Given the description of an element on the screen output the (x, y) to click on. 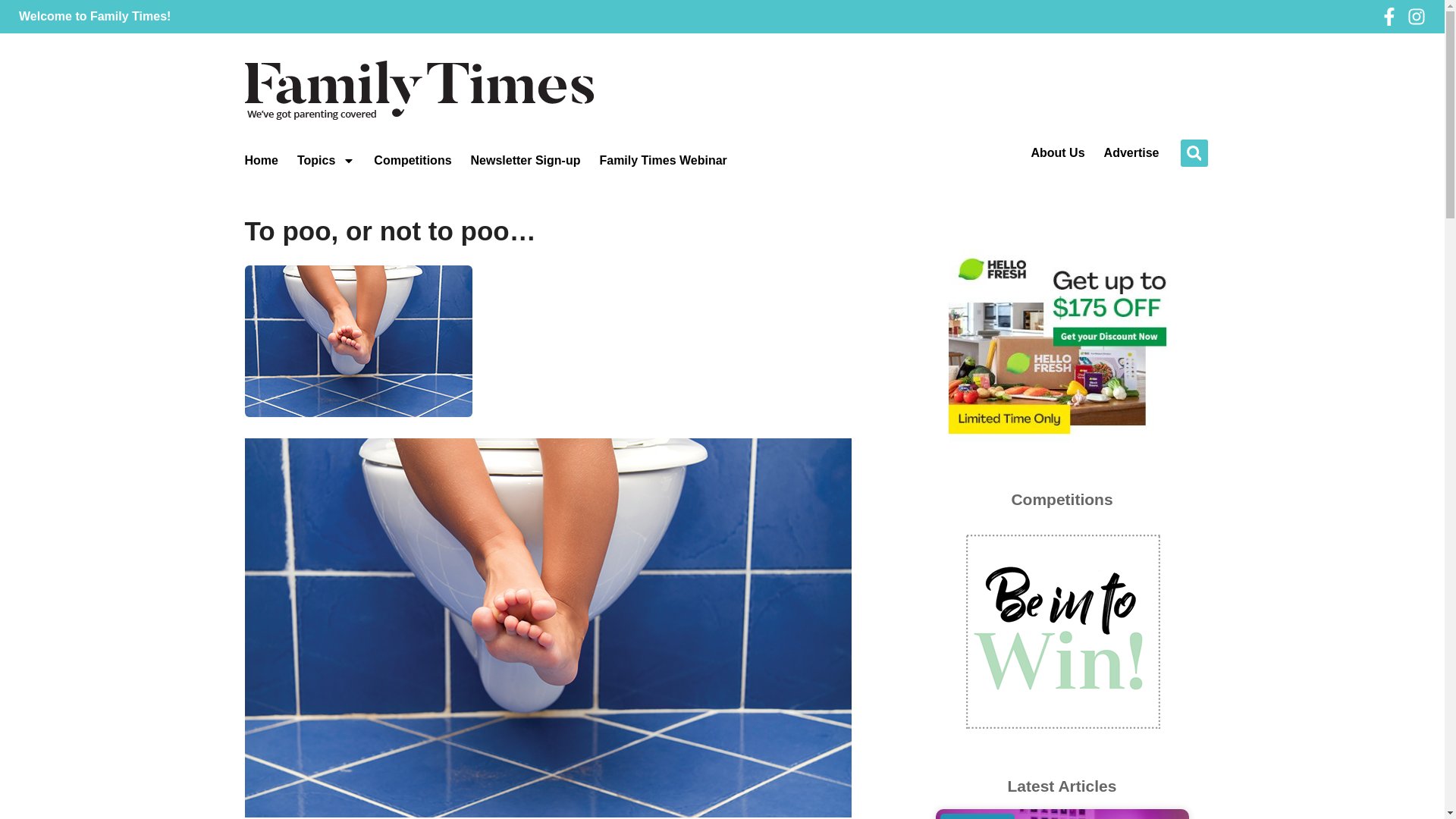
Home (261, 160)
Advertise (1130, 152)
Newsletter Sign-up (525, 160)
Competitions (412, 160)
Welcome to Family Times! (94, 15)
Topics (326, 160)
Family Times Webinar (662, 160)
About Us (1057, 152)
